Given the description of an element on the screen output the (x, y) to click on. 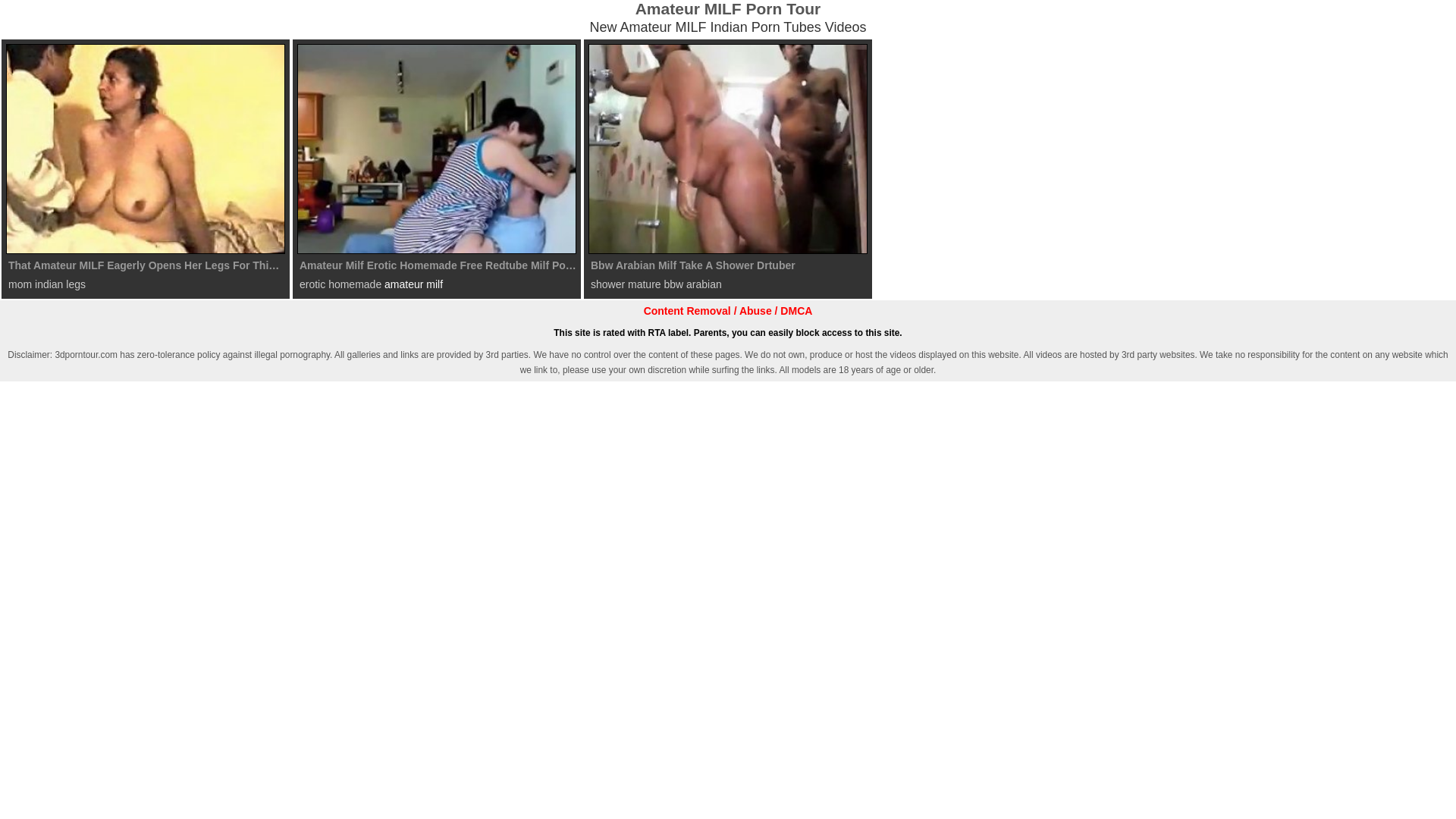
Bbw Arabian Milf Take A Shower Drtuber Element type: hover (727, 148)
homemade Element type: text (354, 284)
shower Element type: text (607, 284)
indian Element type: text (48, 284)
legs Element type: text (75, 284)
mom Element type: text (19, 284)
Amateur Milf Erotic Homemade Free Redtube Milf Porn Video Element type: hover (436, 148)
Content Removal / Abuse / DMCA Element type: text (727, 310)
Amateur MILF Porn Tour Element type: text (728, 8)
arabian Element type: text (703, 284)
mature bbw Element type: text (655, 284)
erotic Element type: text (312, 284)
That Amateur MILF Eagerly Opens Her Legs For This Guy Element type: hover (145, 148)
